Given the description of an element on the screen output the (x, y) to click on. 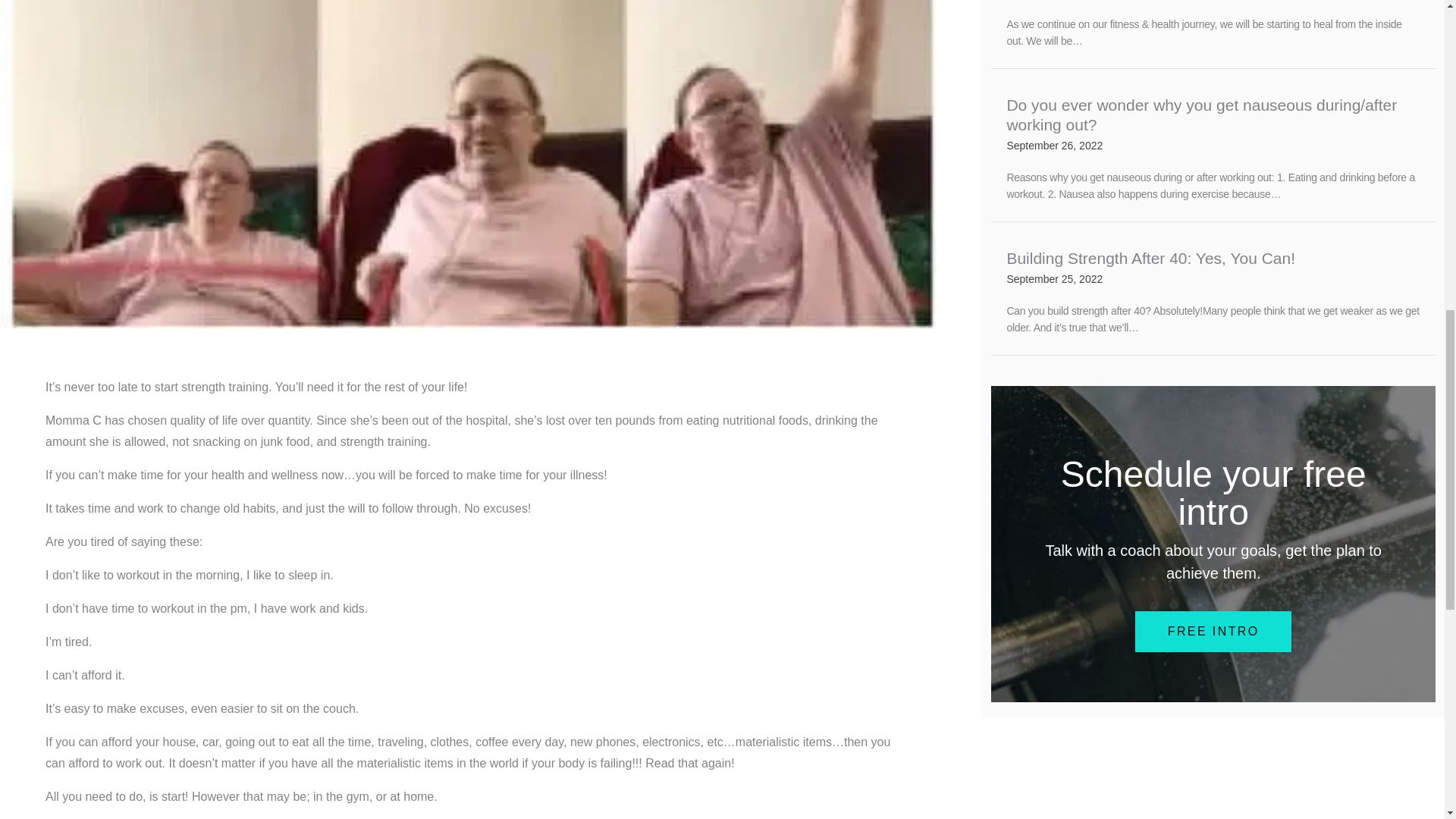
Momma C's Training, 2 weeks out from the hospital 2 (1213, 268)
